Given the description of an element on the screen output the (x, y) to click on. 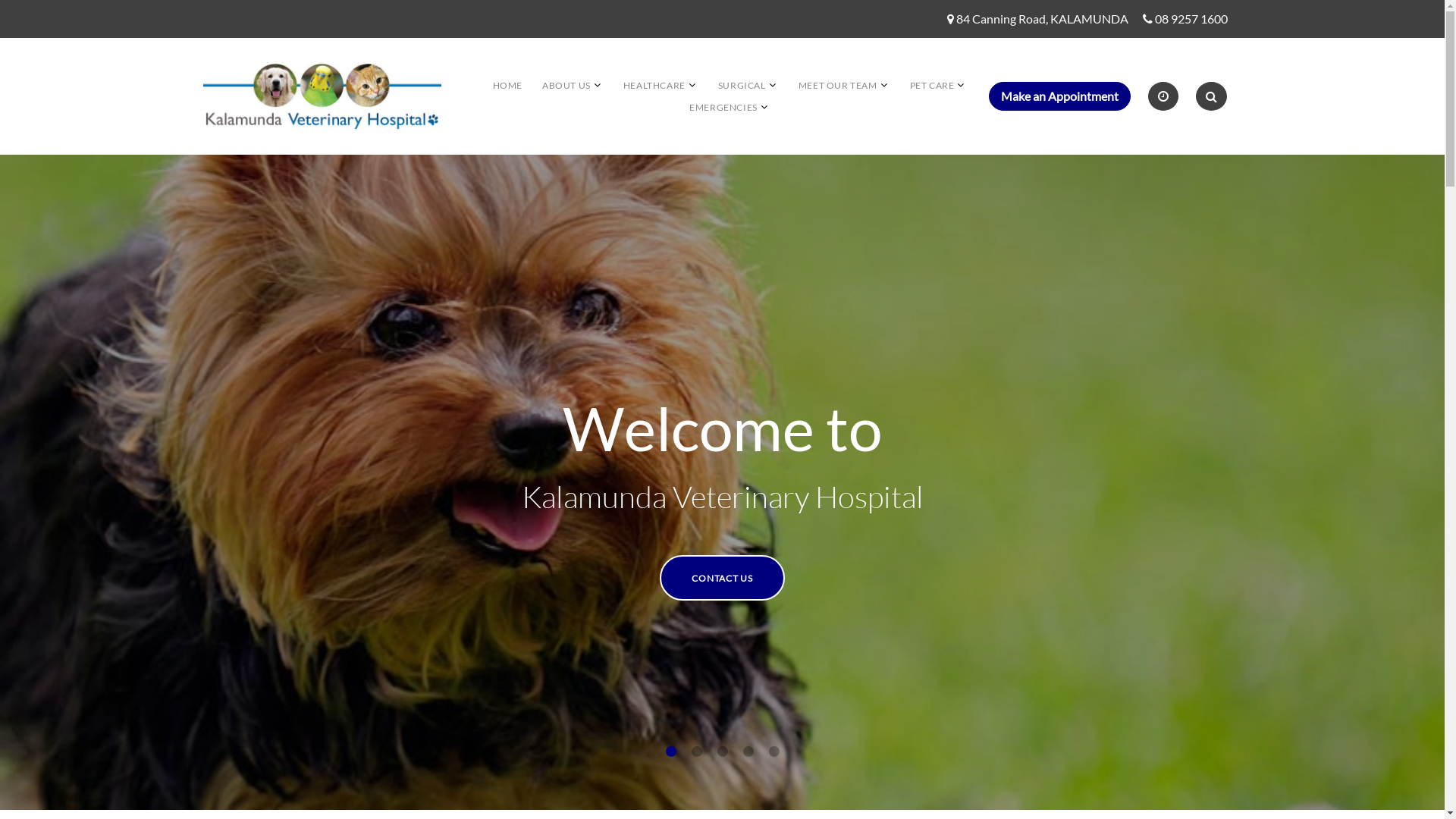
MEET OUR TEAM Element type: text (837, 85)
SURGICAL Element type: text (741, 85)
Make an Appointment Element type: text (1059, 95)
ABOUT US Element type: text (566, 85)
08 9257 1600 Element type: text (1190, 19)
EMERGENCIES Element type: text (723, 106)
HOME Element type: text (507, 85)
HEALTHCARE Element type: text (654, 85)
PET CARE Element type: text (932, 85)
